Given the description of an element on the screen output the (x, y) to click on. 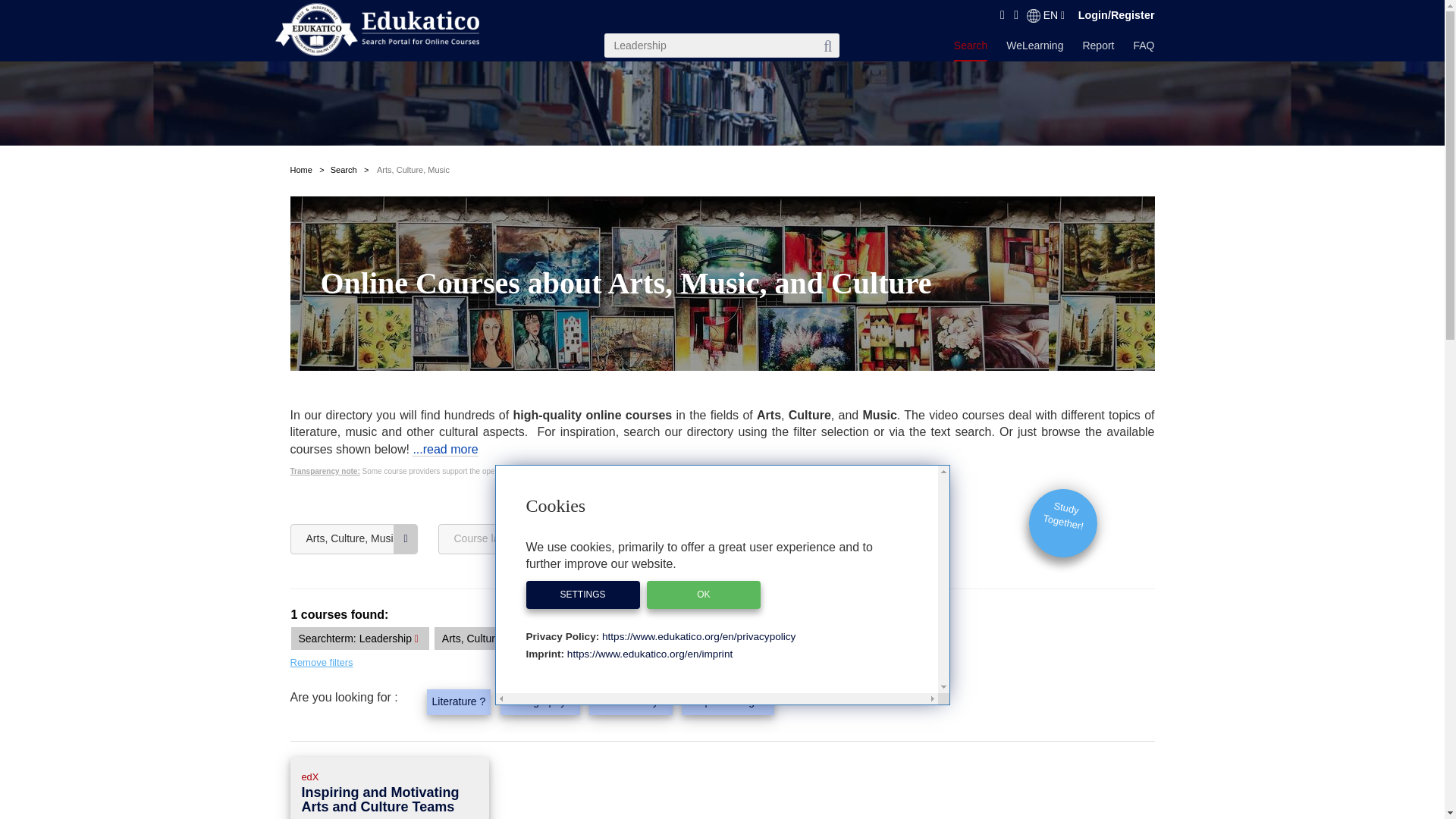
FAQ (1143, 49)
Leadership (722, 45)
Search (970, 49)
Report (1097, 49)
Search (343, 169)
Home (300, 169)
...read more (444, 449)
EN (1045, 15)
Leadership (722, 45)
Arts, Culture, Music (352, 539)
WeLearning (1034, 49)
Arts, Culture, Music (413, 169)
